Given the description of an element on the screen output the (x, y) to click on. 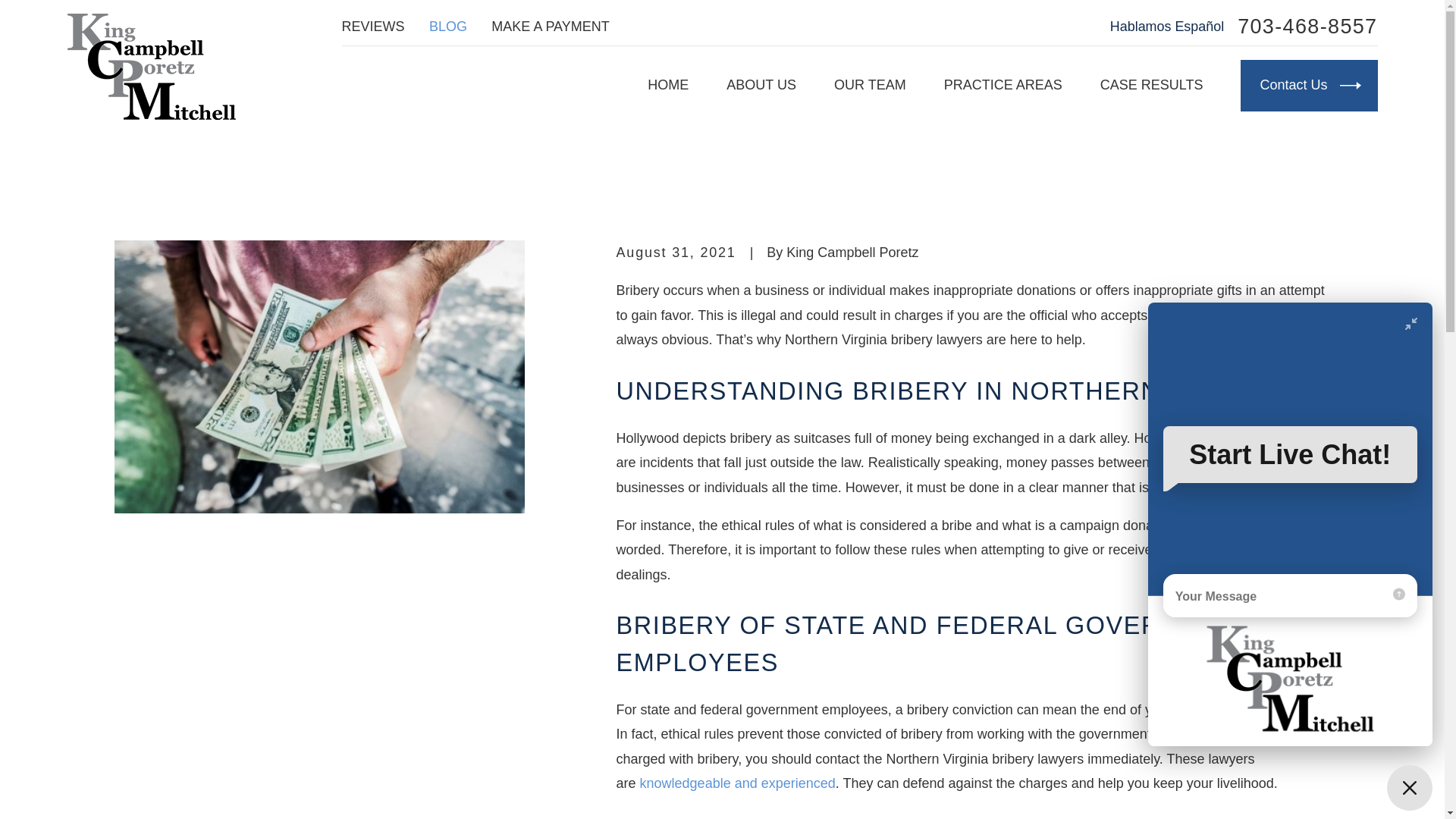
King, Campbell, Poretz, and Mitchell (150, 66)
OUR TEAM (869, 85)
ABOUT US (761, 85)
PRACTICE AREAS (1002, 85)
703-468-8557 (1307, 26)
Home (150, 66)
MAKE A PAYMENT (550, 26)
BLOG (448, 26)
REVIEWS (373, 26)
